Given the description of an element on the screen output the (x, y) to click on. 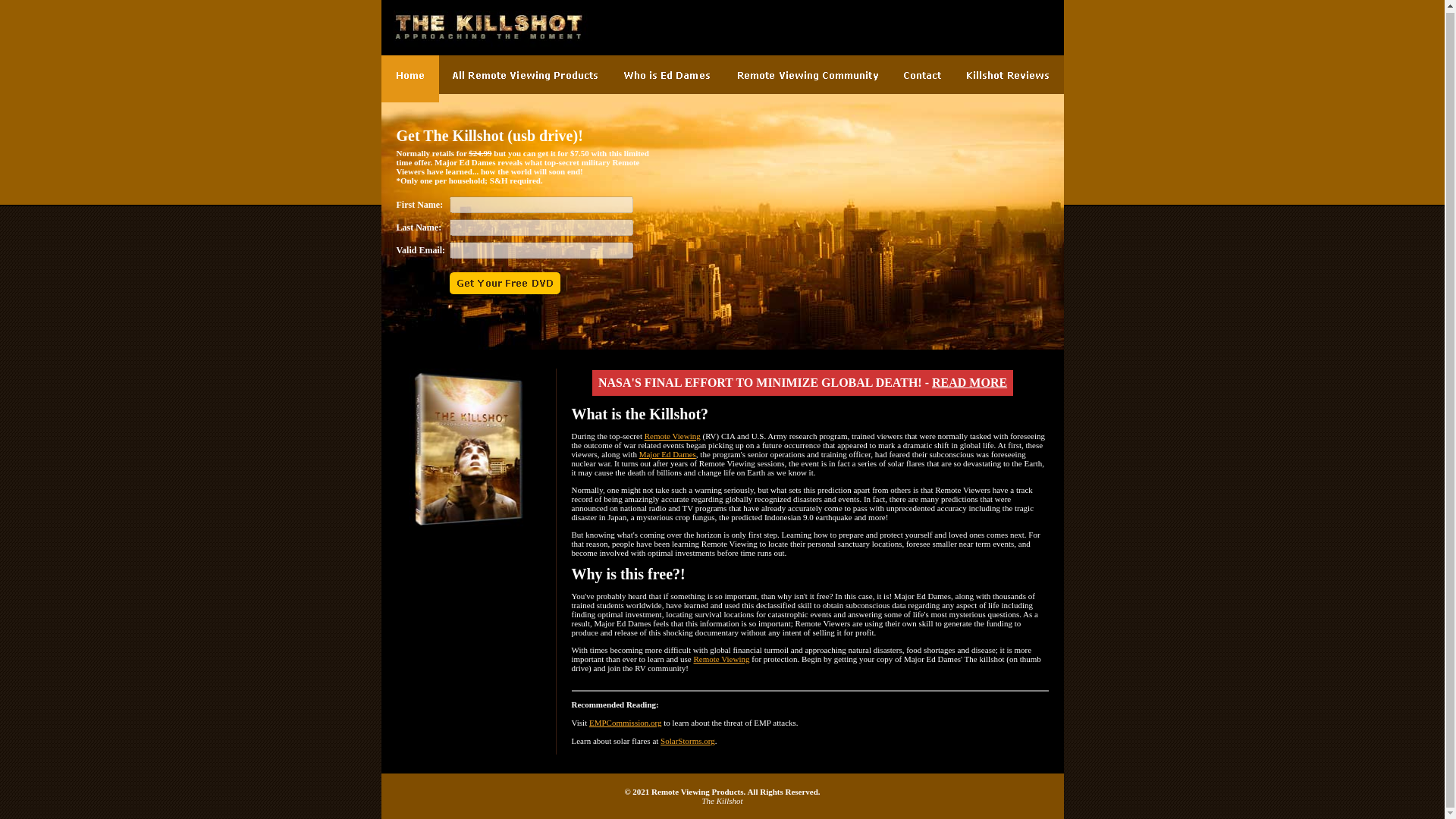
Major Ed Dames (667, 453)
Remote Viewing (672, 435)
READ MORE (969, 382)
EMPCommission.org (625, 722)
Remote Viewing (721, 658)
SolarStorms.org (687, 740)
